Given the description of an element on the screen output the (x, y) to click on. 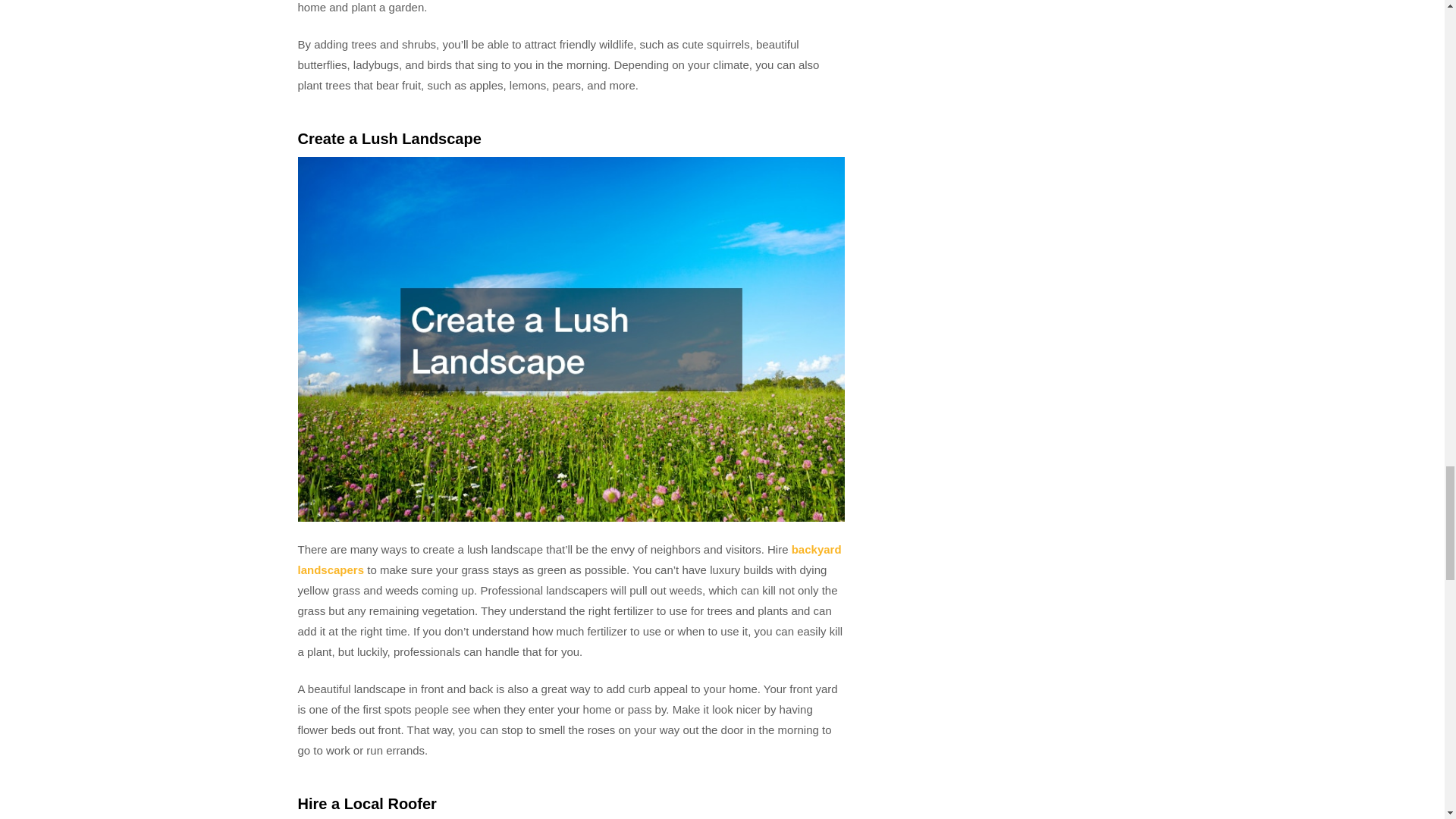
backyard landscapers (569, 559)
